Given the description of an element on the screen output the (x, y) to click on. 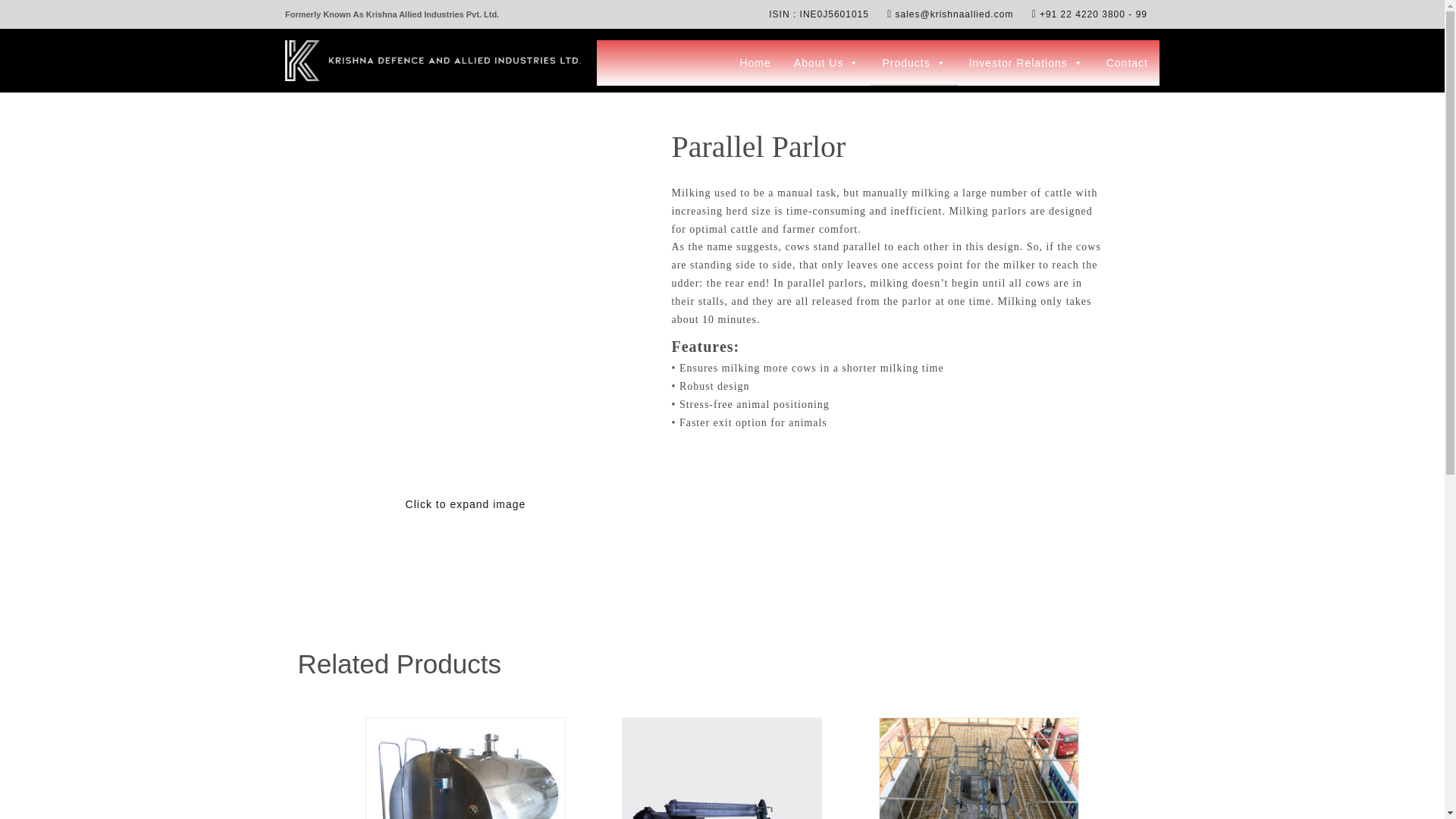
About Us (826, 62)
Home (754, 62)
Products (913, 62)
